Given the description of an element on the screen output the (x, y) to click on. 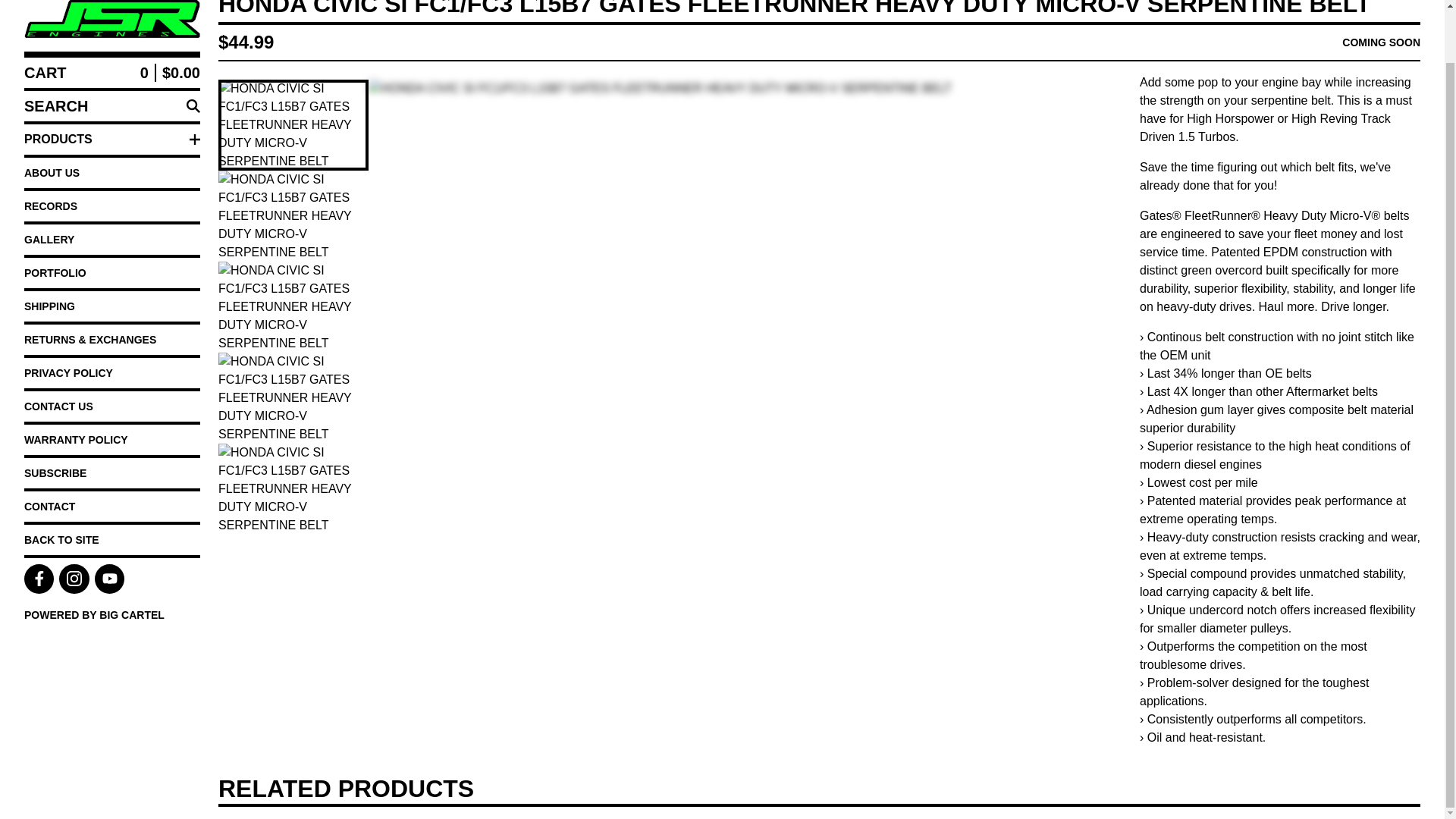
PRODUCTS (112, 139)
Home (112, 19)
ABOUT US (112, 173)
GALLERY (112, 239)
RECORDS (112, 205)
View cart (112, 72)
